Given the description of an element on the screen output the (x, y) to click on. 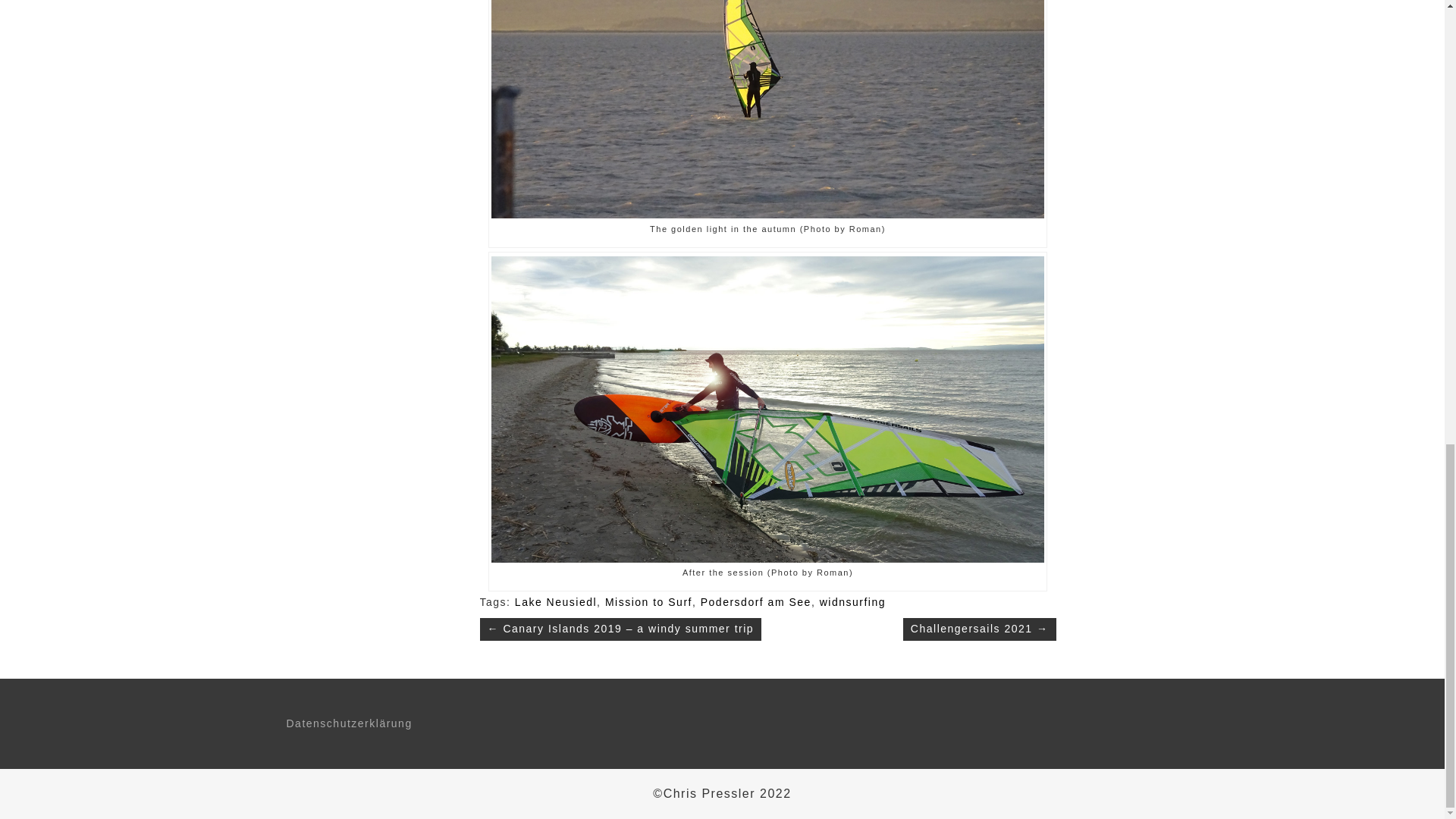
Mission to Surf (649, 602)
widnsurfing (852, 602)
Podersdorf am See (755, 602)
Lake Neusiedl (555, 602)
